Given the description of an element on the screen output the (x, y) to click on. 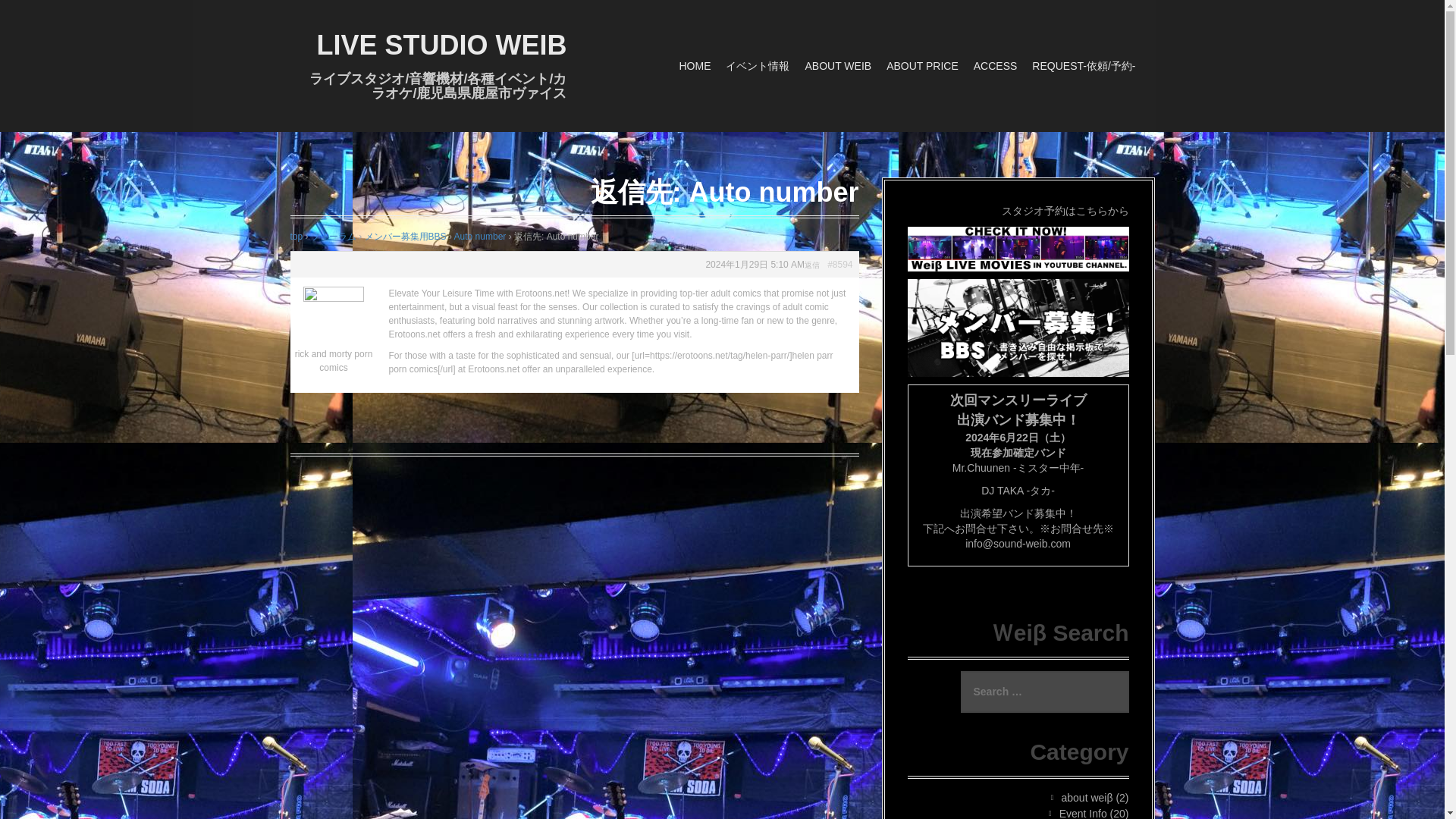
top (295, 235)
Auto number (480, 235)
Event Info (1082, 813)
ABOUT PRICE (922, 66)
Search for: (1043, 691)
ACCESS (995, 66)
HOME (694, 66)
